Given the description of an element on the screen output the (x, y) to click on. 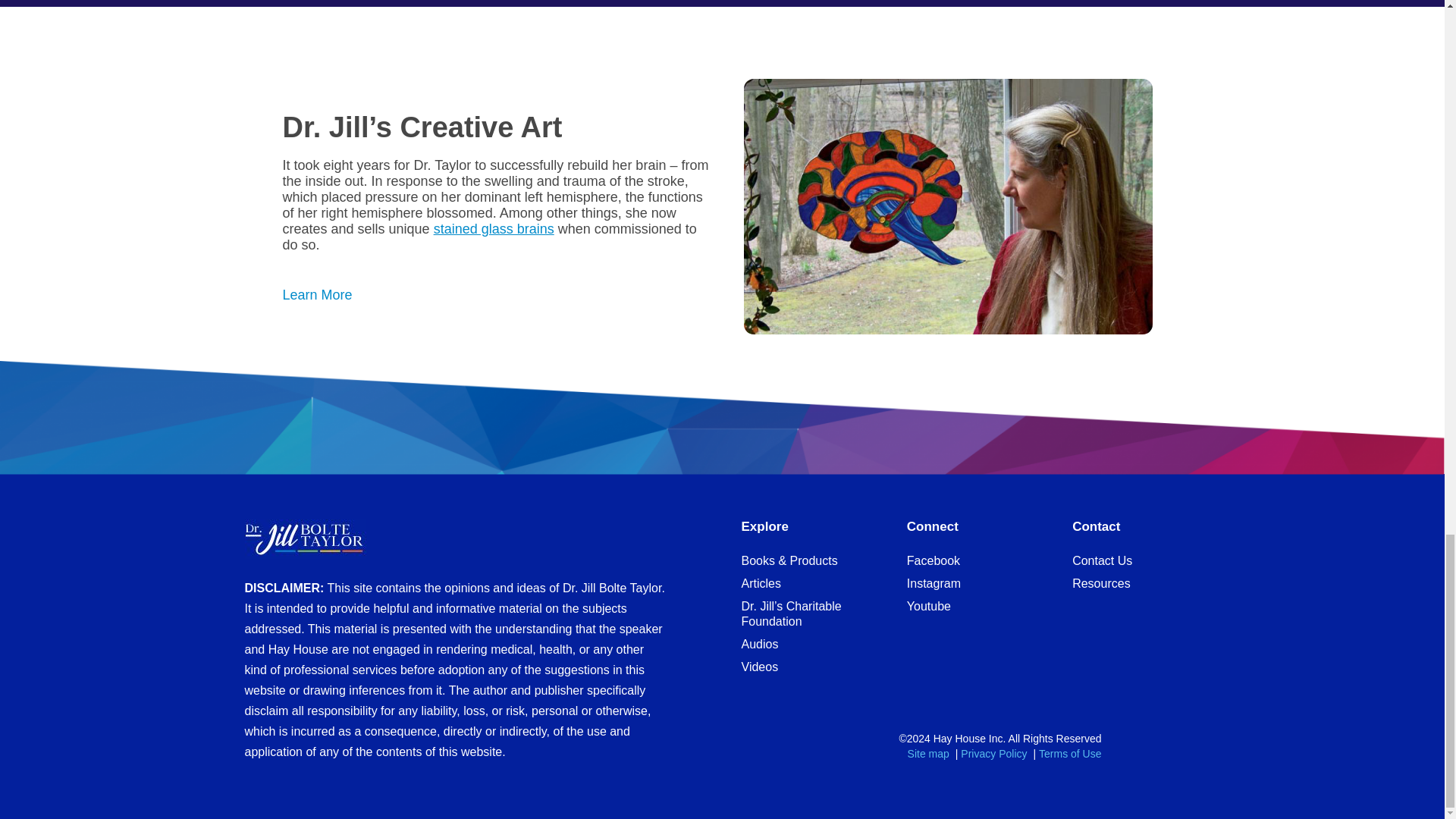
Image 1 (946, 206)
